Given the description of an element on the screen output the (x, y) to click on. 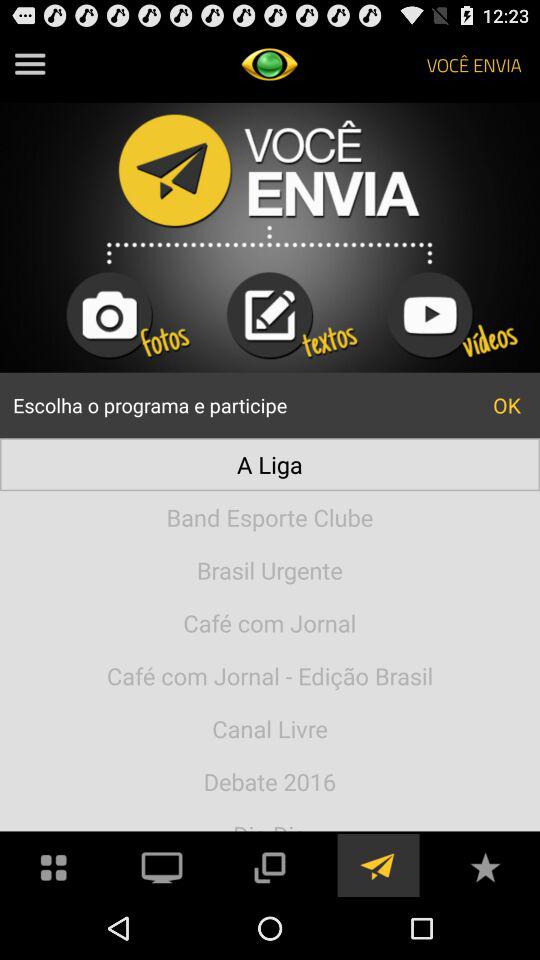
view favorites (485, 865)
